Given the description of an element on the screen output the (x, y) to click on. 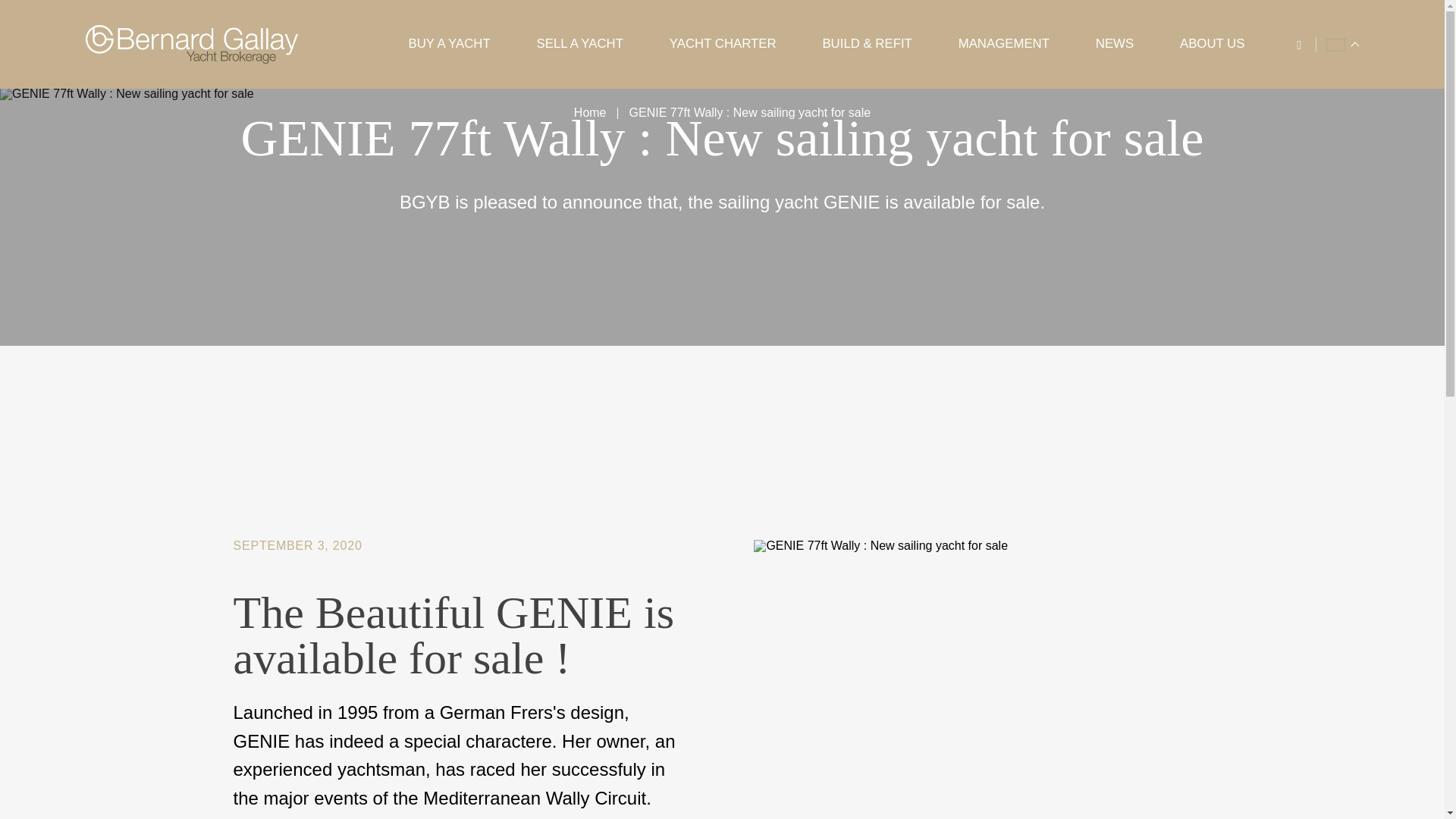
Home (589, 112)
